Given the description of an element on the screen output the (x, y) to click on. 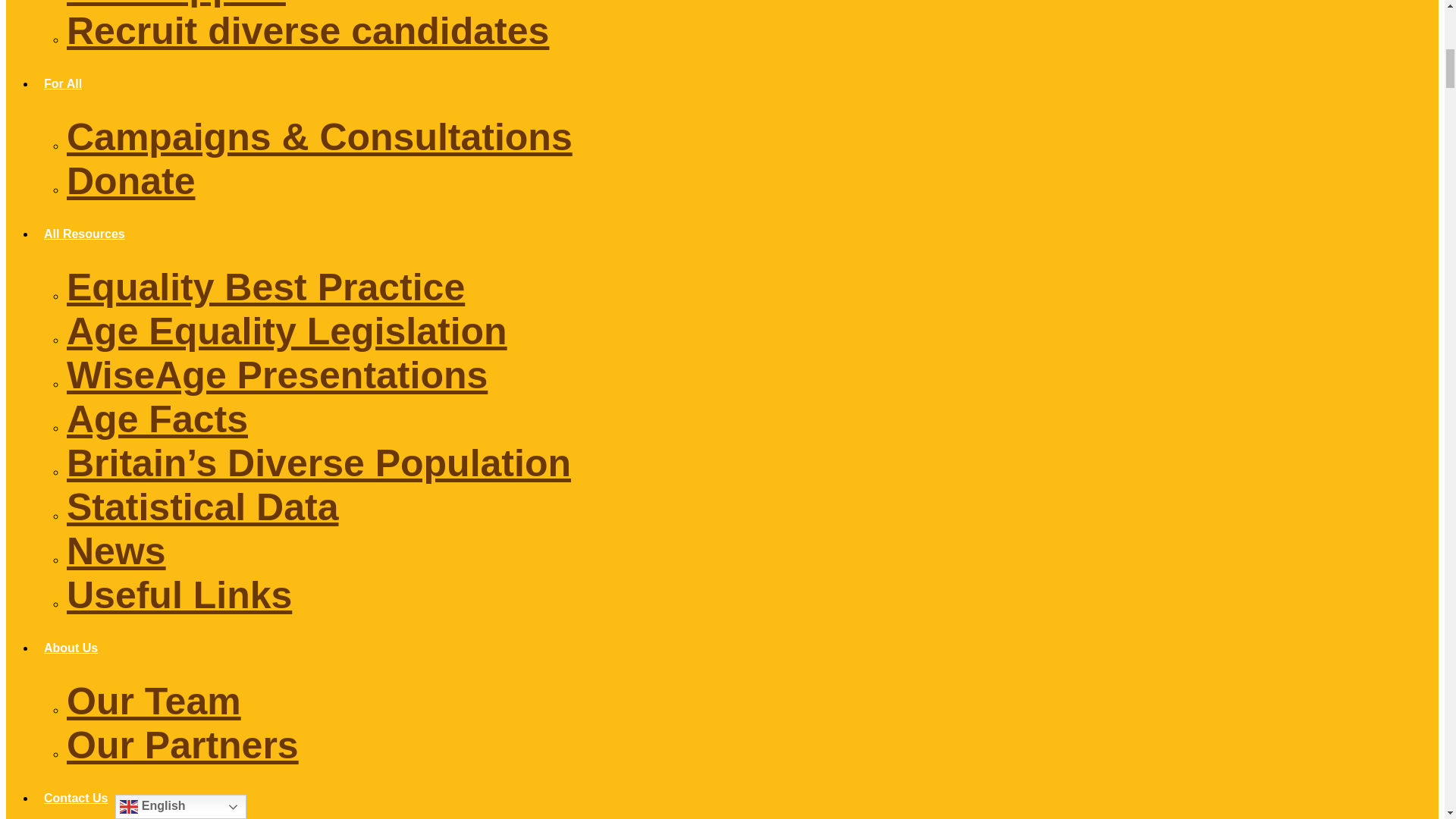
All Resources (84, 233)
Our Team (153, 701)
Statistical Data (201, 507)
Contact Us (75, 797)
WiseAge Presentations (276, 374)
Get Support (175, 4)
Our Partners (182, 744)
Age Equality Legislation (286, 331)
Useful Links (179, 595)
Age Facts (156, 419)
For All (62, 83)
Donate (130, 180)
Equality Best Practice (265, 287)
News (115, 550)
Recruit diverse candidates (307, 30)
